Given the description of an element on the screen output the (x, y) to click on. 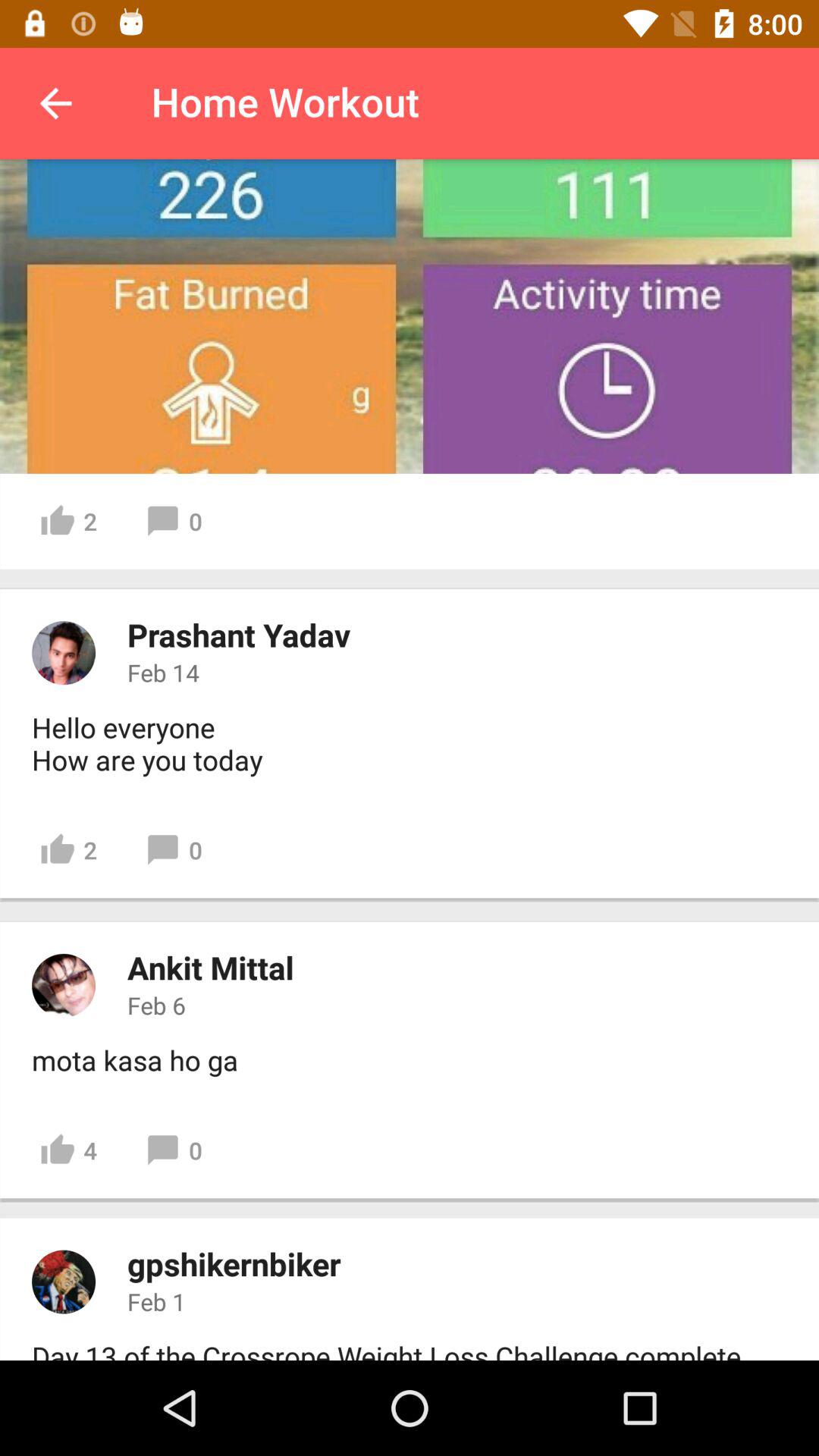
tap icon below the mota kasa ho item (68, 1150)
